Given the description of an element on the screen output the (x, y) to click on. 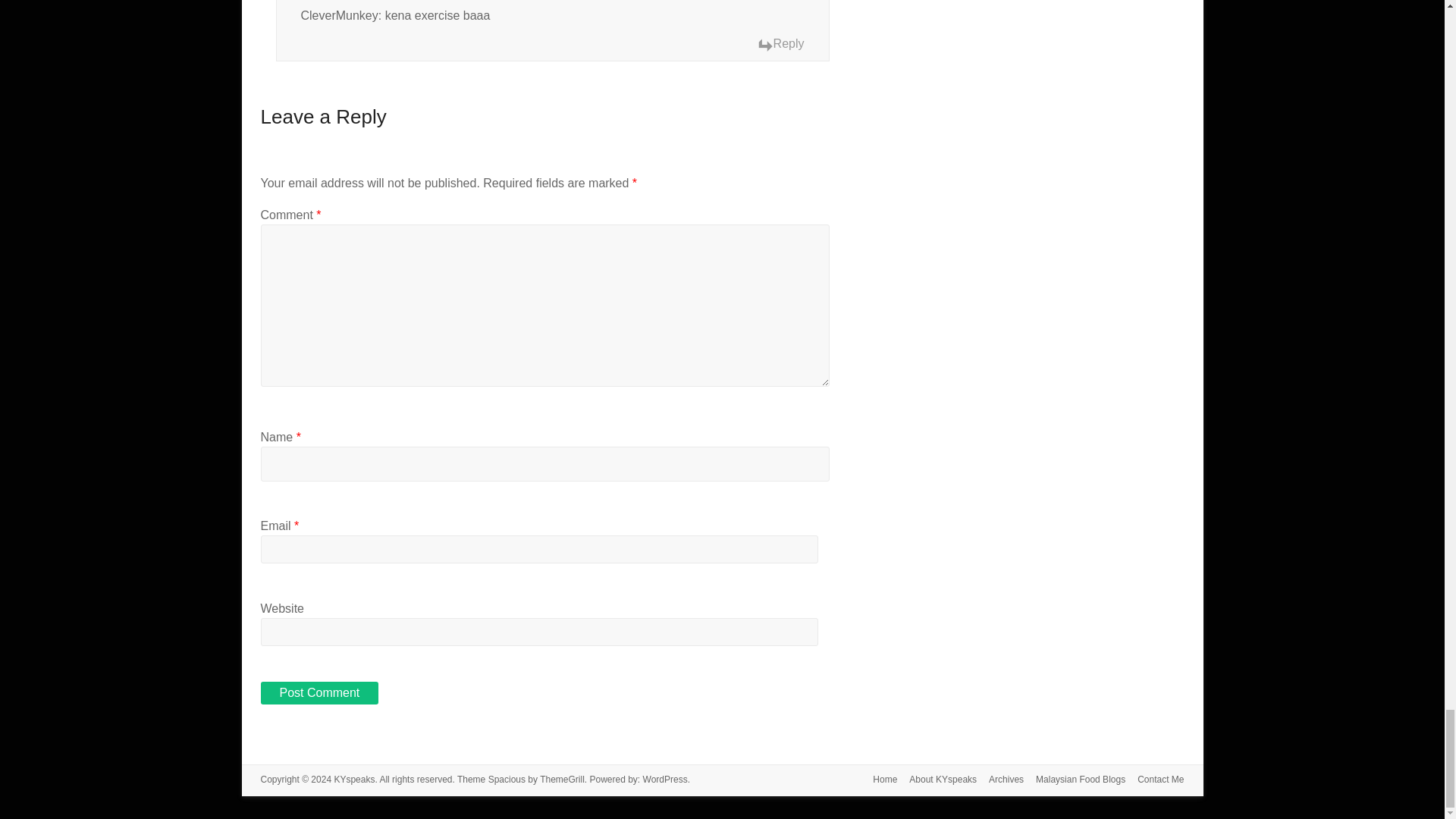
Spacious (506, 778)
KYspeaks (353, 778)
WordPress (665, 778)
Post Comment (319, 692)
